Given the description of an element on the screen output the (x, y) to click on. 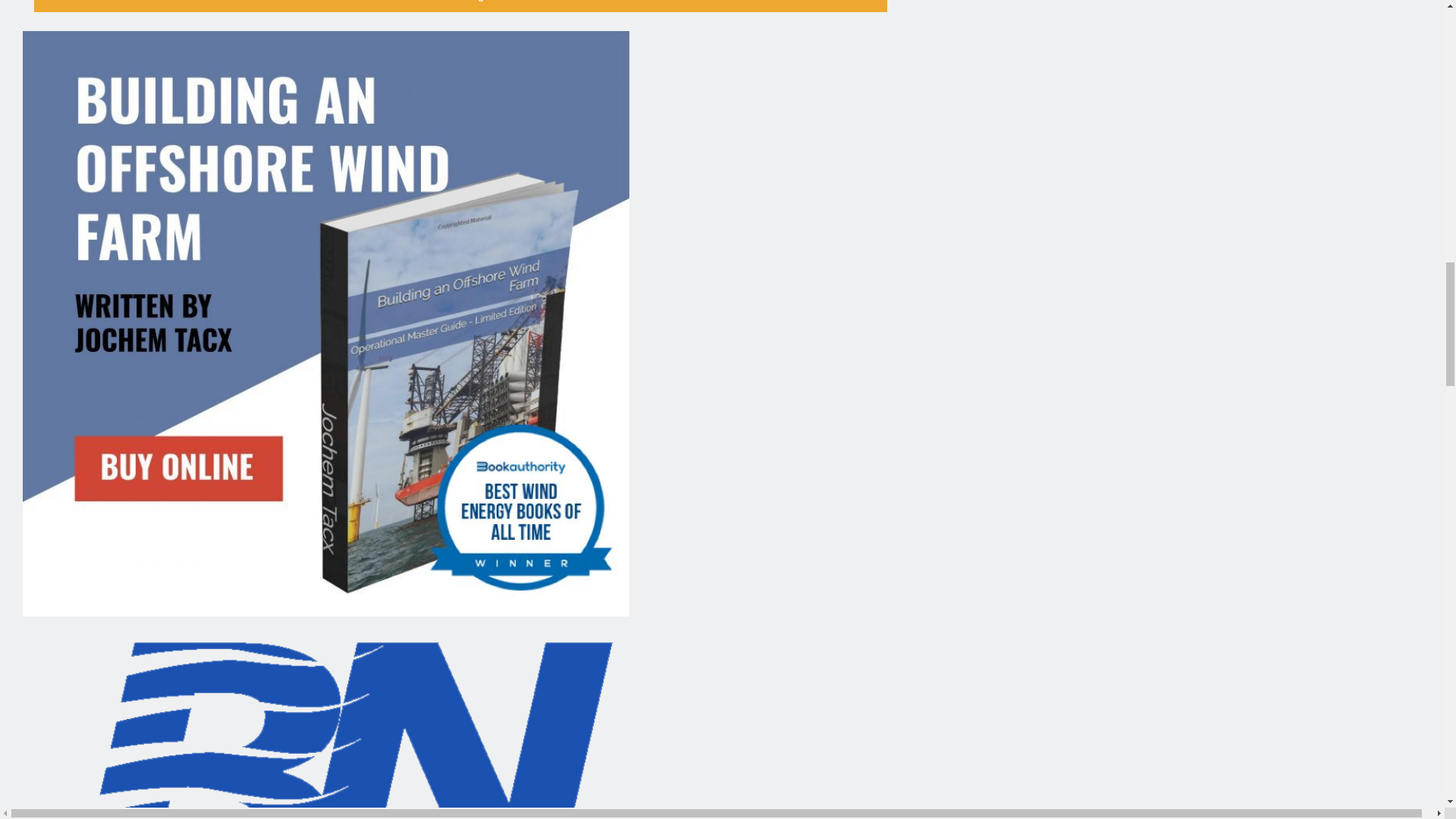
Advertising (459, 6)
